Given the description of an element on the screen output the (x, y) to click on. 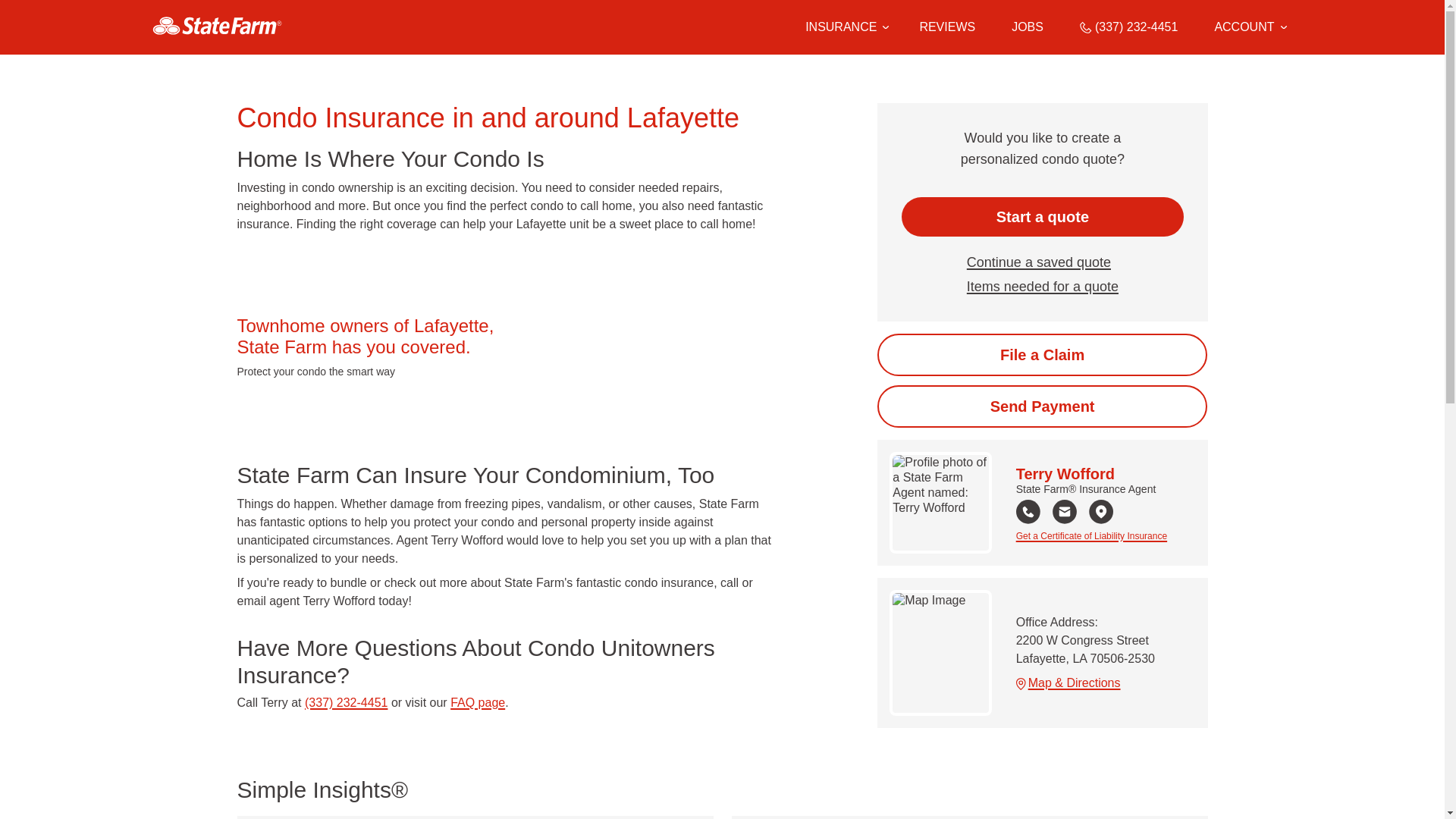
JOBS (1027, 27)
INSURANCE (840, 27)
Account Options (1250, 27)
REVIEWS (946, 27)
ACCOUNT (1250, 27)
Insurance (844, 27)
Start the claim process online (1042, 354)
FAQ page (477, 702)
